Given the description of an element on the screen output the (x, y) to click on. 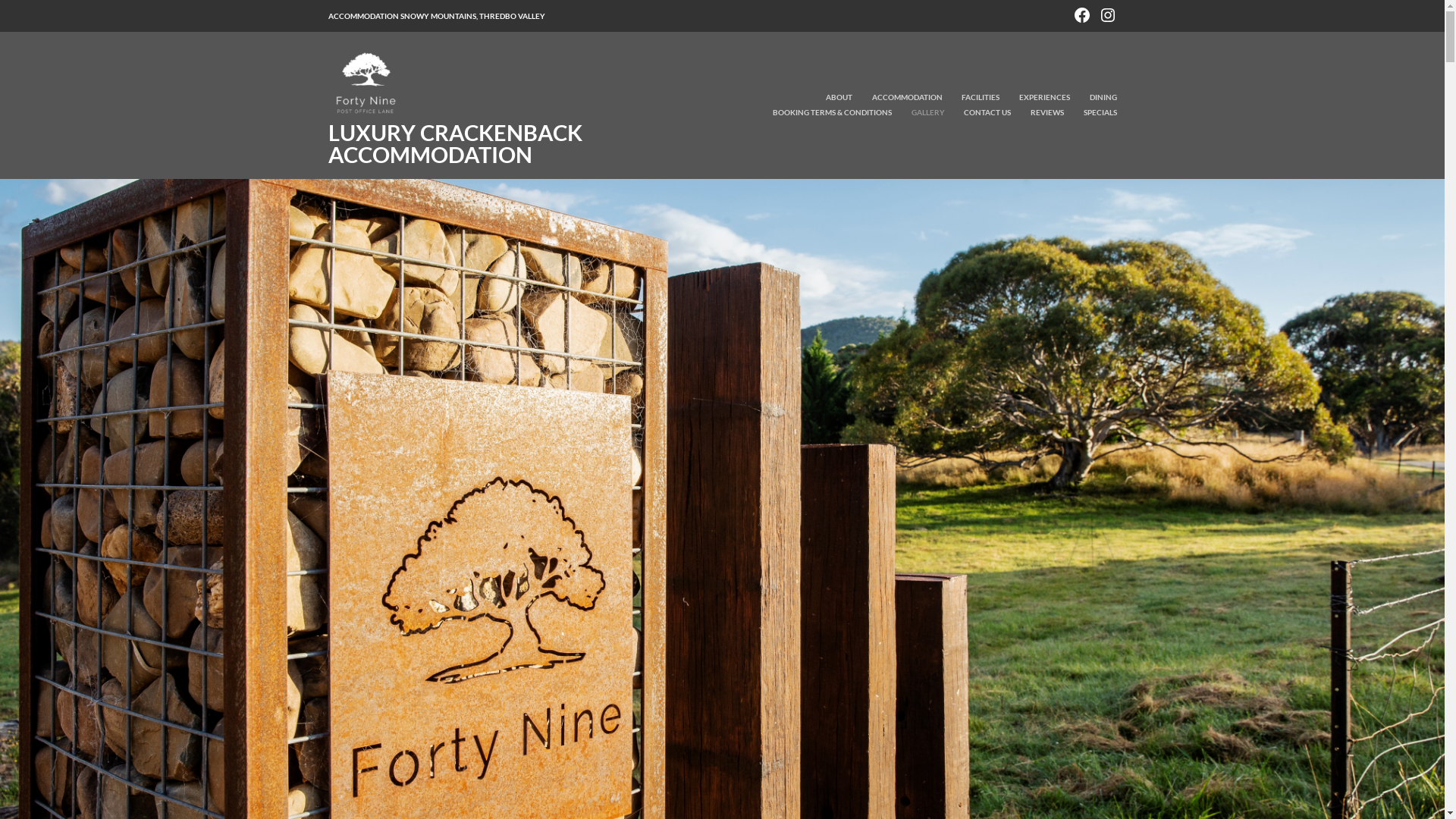
INSTAGRAM Element type: text (1107, 13)
DINING Element type: text (1094, 97)
REVIEWS Element type: text (1037, 112)
LUXURY CRACKENBACK ACCOMMODATION Element type: text (454, 143)
CONTACT US Element type: text (978, 112)
GALLERY Element type: text (918, 112)
BOOKING TERMS & CONDITIONS Element type: text (823, 112)
Search Element type: text (33, 12)
EXPERIENCES Element type: text (1035, 97)
SPECIALS Element type: text (1091, 112)
ACCOMMODATION Element type: text (897, 97)
FACEBOOK Element type: text (1082, 13)
ABOUT Element type: text (830, 97)
FACILITIES Element type: text (972, 97)
